Given the description of an element on the screen output the (x, y) to click on. 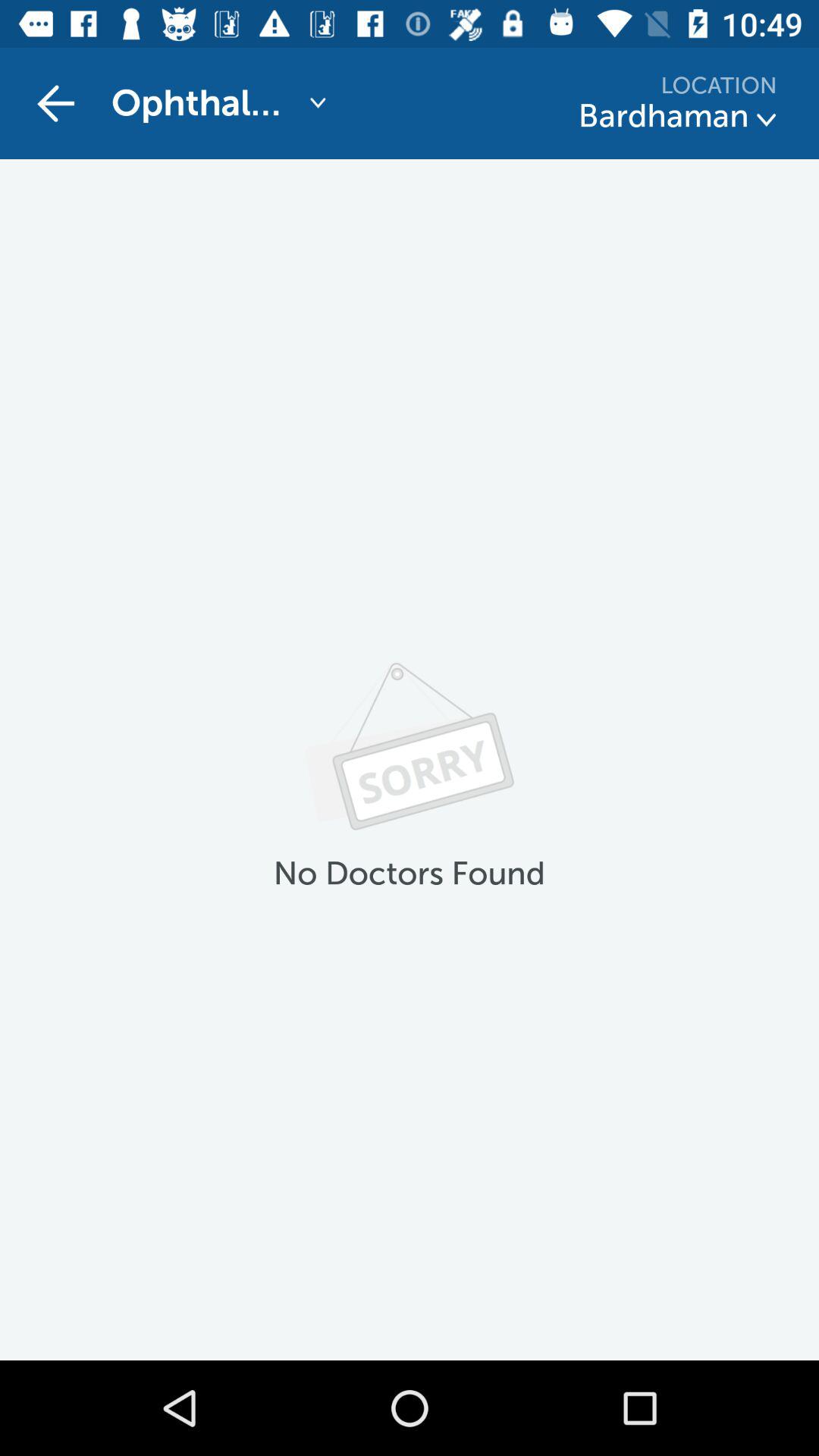
turn on the icon to the left of ophthalmologist icon (55, 103)
